Given the description of an element on the screen output the (x, y) to click on. 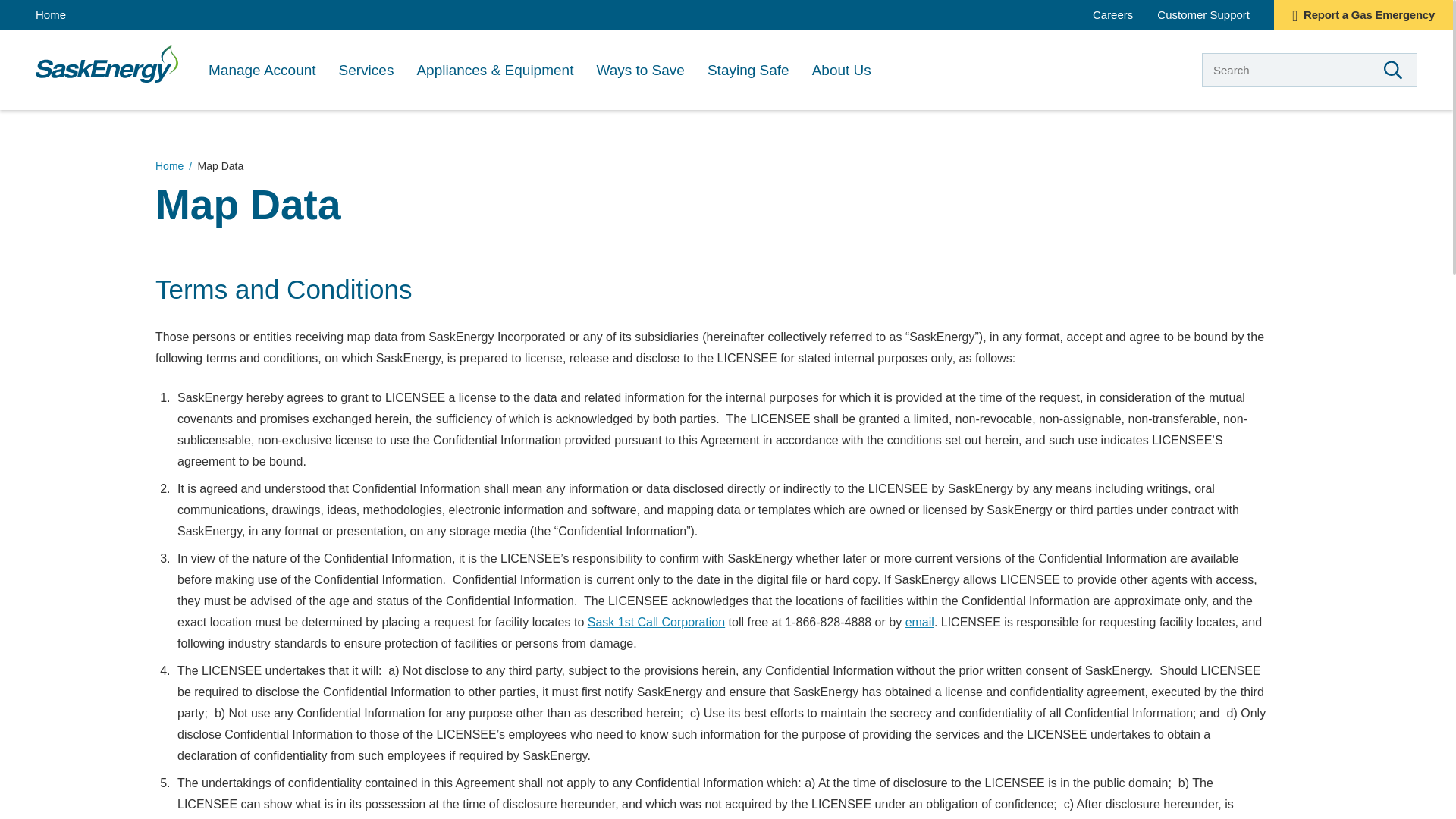
Manage Account (261, 69)
Home (105, 63)
Search (1392, 69)
Customer Support (1203, 14)
Search (1392, 69)
Careers (1112, 14)
Skip to main content (8, 9)
Home (49, 14)
Ways to Save (639, 69)
